Given the description of an element on the screen output the (x, y) to click on. 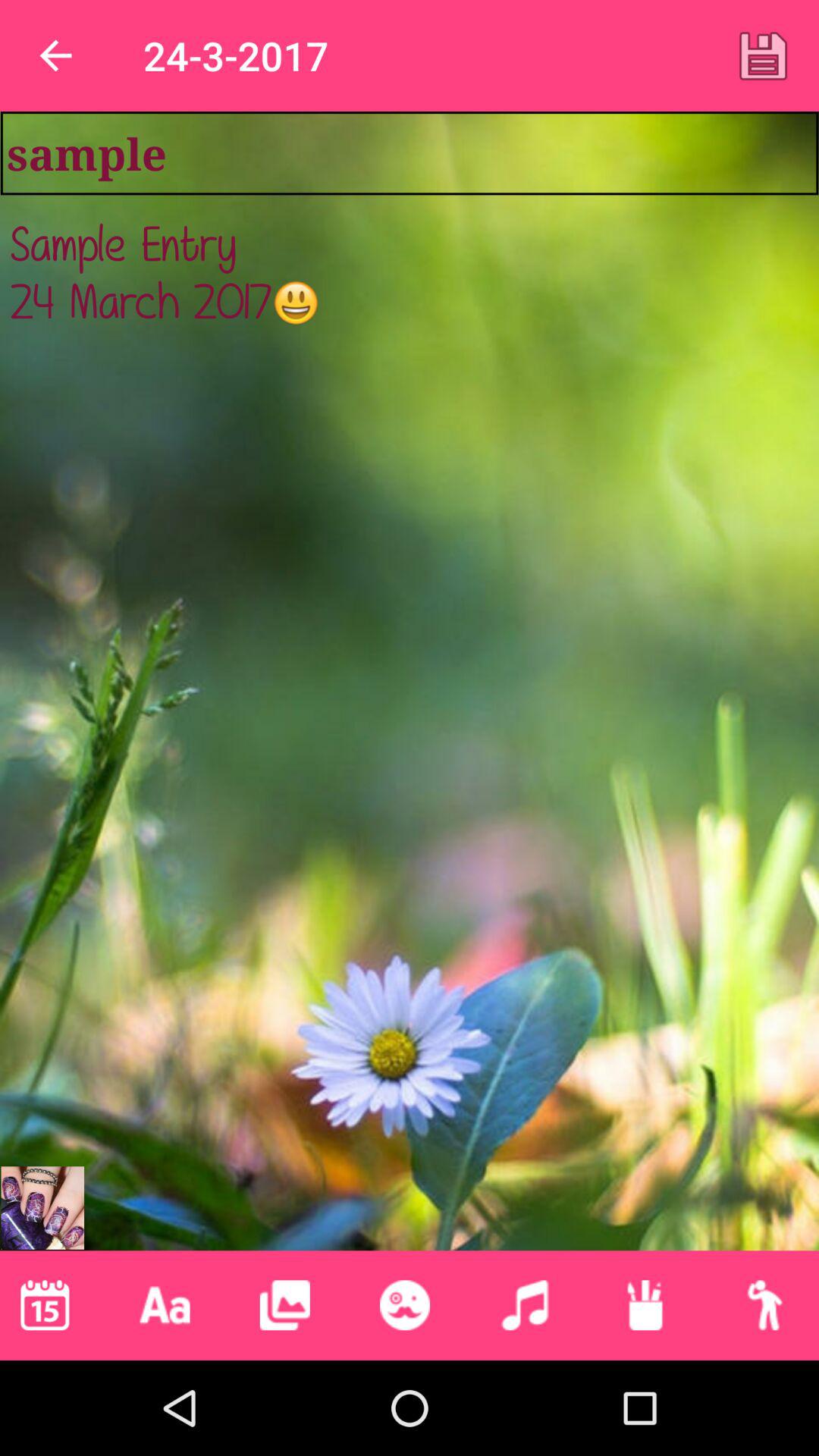
tap icon above the sample icon (763, 55)
